Given the description of an element on the screen output the (x, y) to click on. 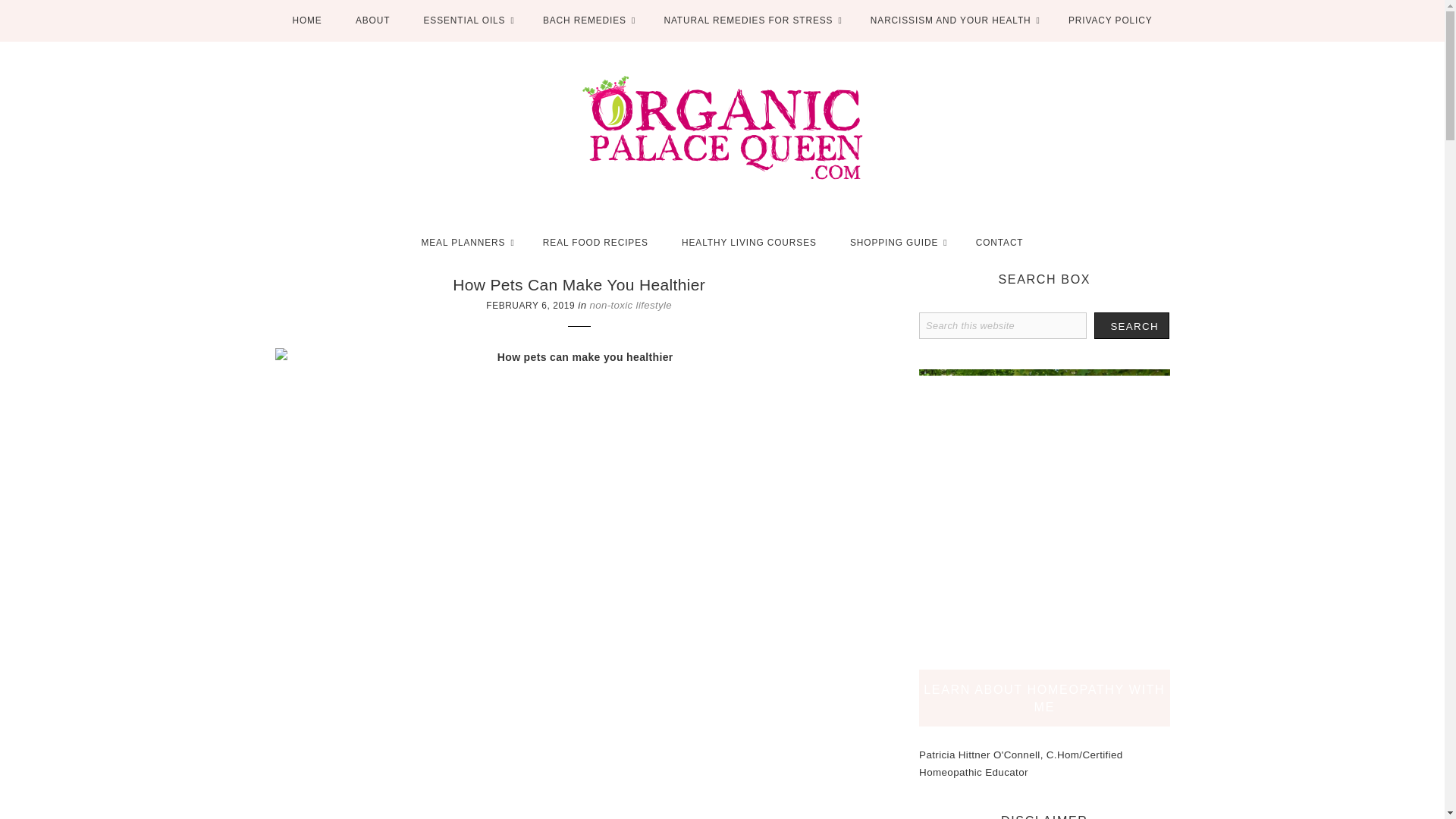
Search (1131, 325)
Search (1131, 325)
